Given the description of an element on the screen output the (x, y) to click on. 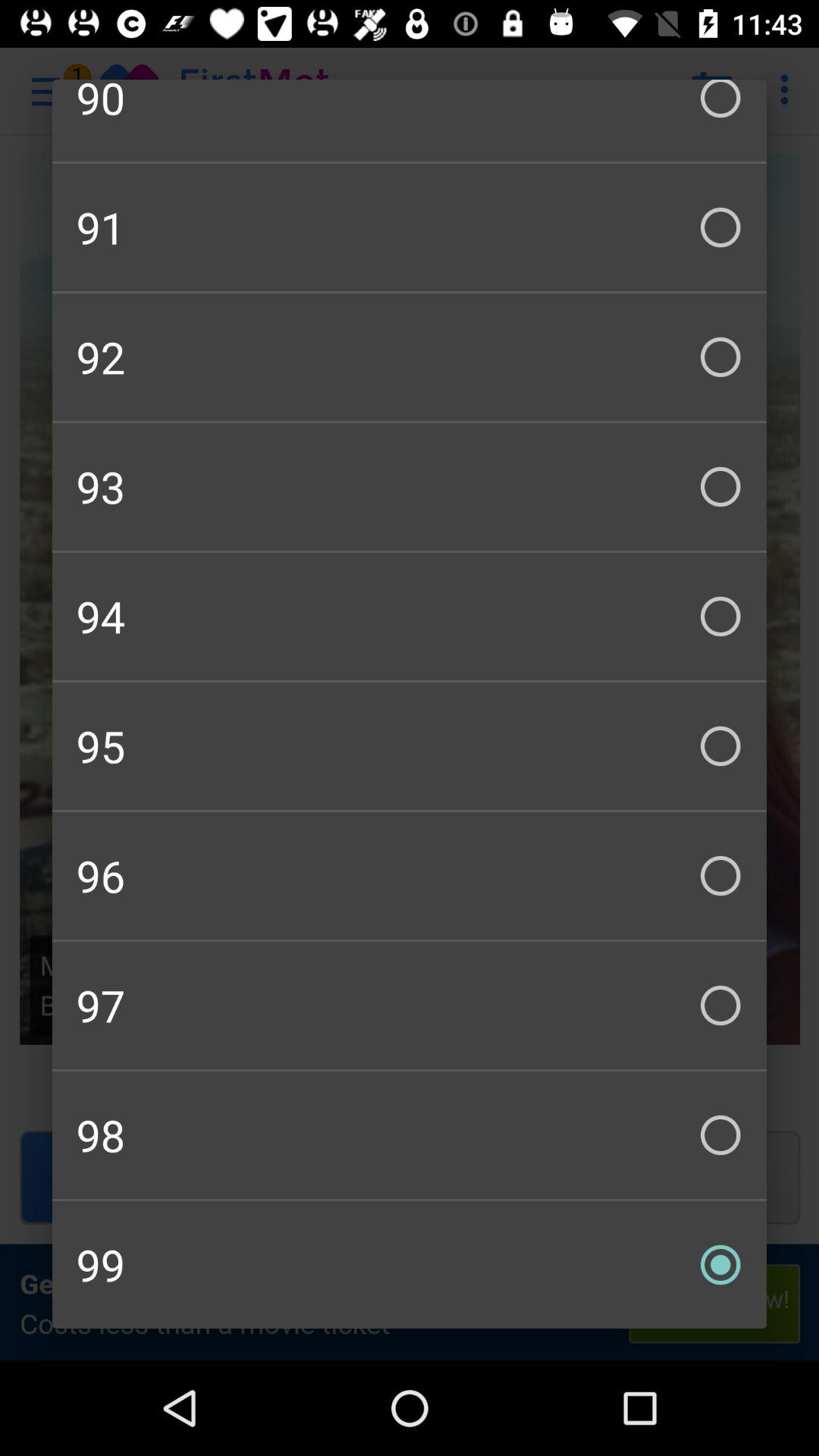
press checkbox below 98 checkbox (409, 1264)
